Given the description of an element on the screen output the (x, y) to click on. 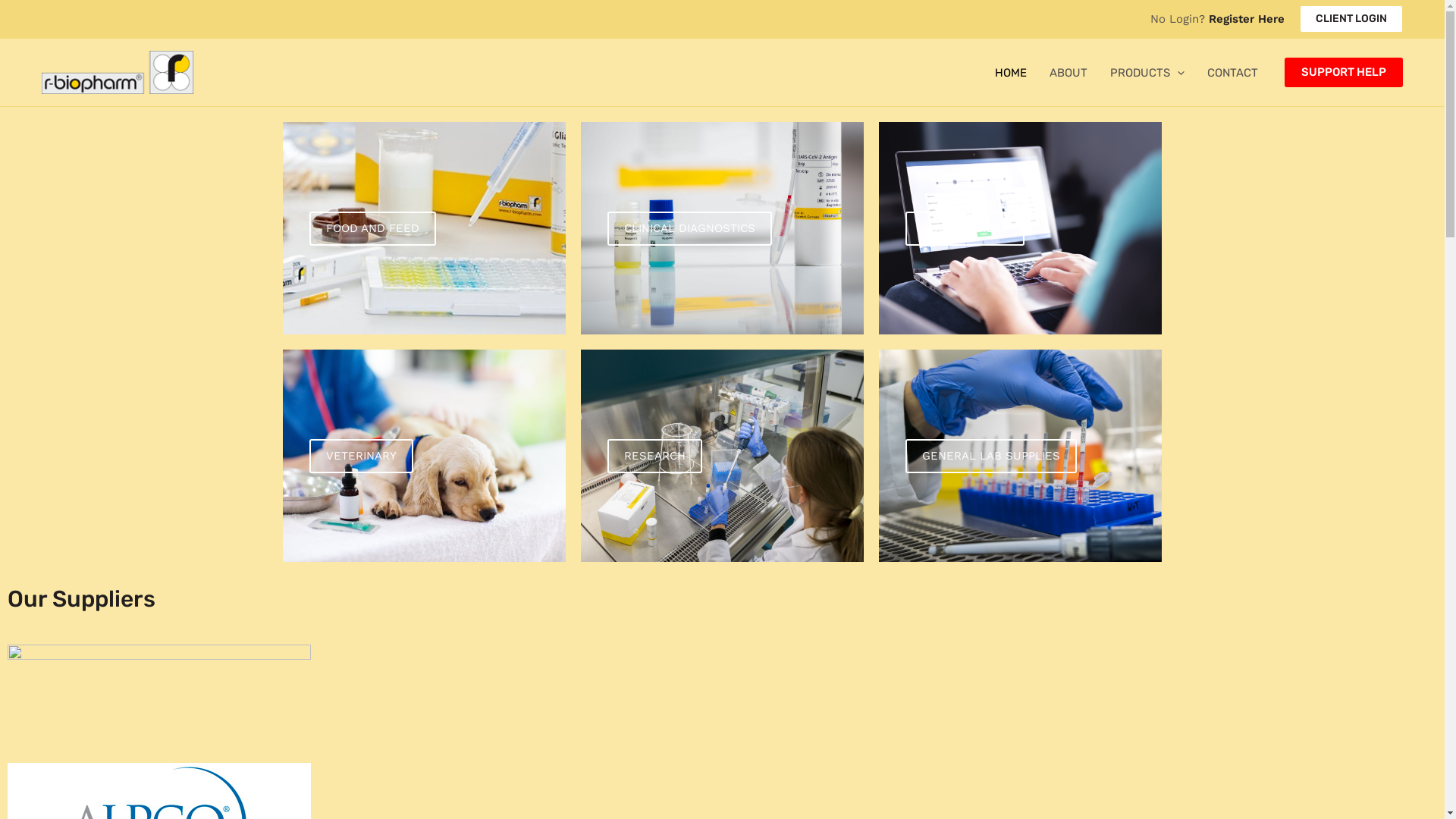
CLINICAL DIAGNOSTICS Element type: text (689, 227)
SUPPORT HELP Element type: text (964, 227)
HOME Element type: text (1010, 72)
CONTACT Element type: text (1232, 72)
PRODUCTS Element type: text (1146, 72)
ABOUT Element type: text (1068, 72)
FOOD AND FEED Element type: text (372, 227)
VETERINARY Element type: text (361, 455)
GENERAL LAB SUPPLIES Element type: text (990, 455)
CLIENT LOGIN Element type: text (1350, 18)
Register Here Element type: text (1246, 18)
RESEARCH Element type: text (654, 455)
SUPPORT HELP Element type: text (1343, 72)
